Given the description of an element on the screen output the (x, y) to click on. 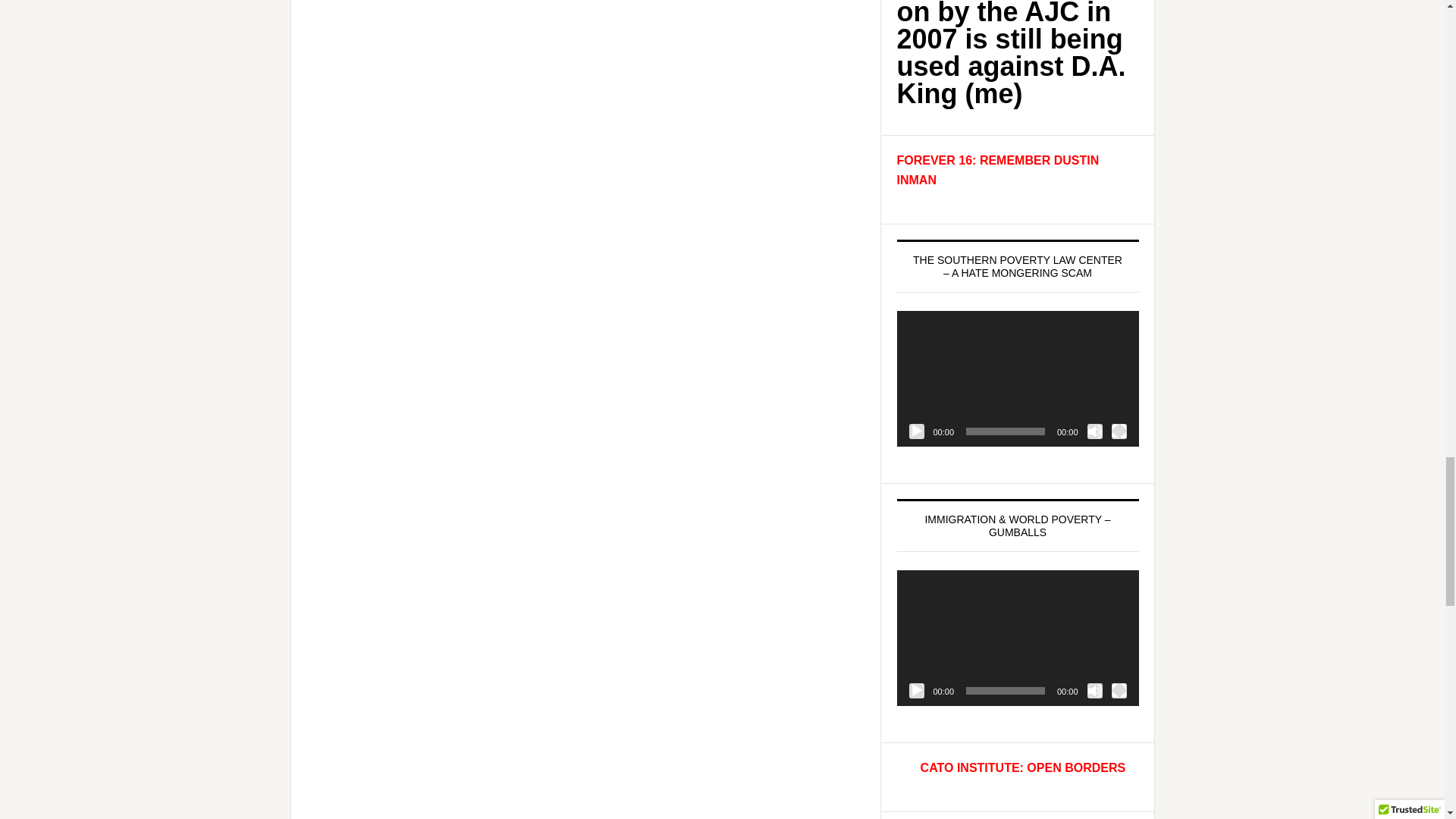
Play (915, 690)
Mute (1094, 690)
Play (915, 431)
Mute (1094, 431)
Fullscreen (1119, 690)
Fullscreen (1119, 431)
